Given the description of an element on the screen output the (x, y) to click on. 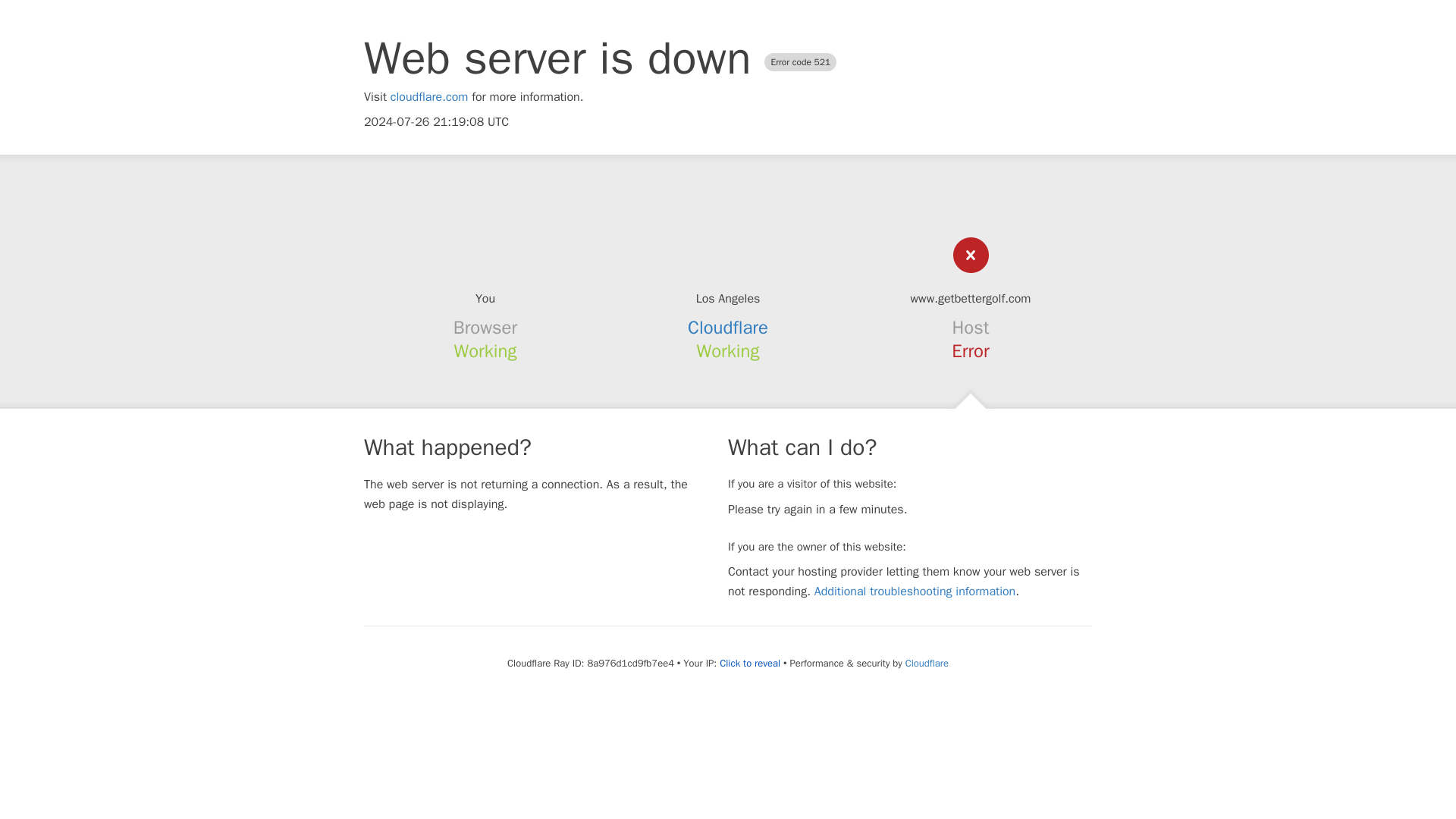
cloudflare.com (429, 96)
Click to reveal (749, 663)
Additional troubleshooting information (913, 590)
Cloudflare (727, 327)
Cloudflare (927, 662)
